Given the description of an element on the screen output the (x, y) to click on. 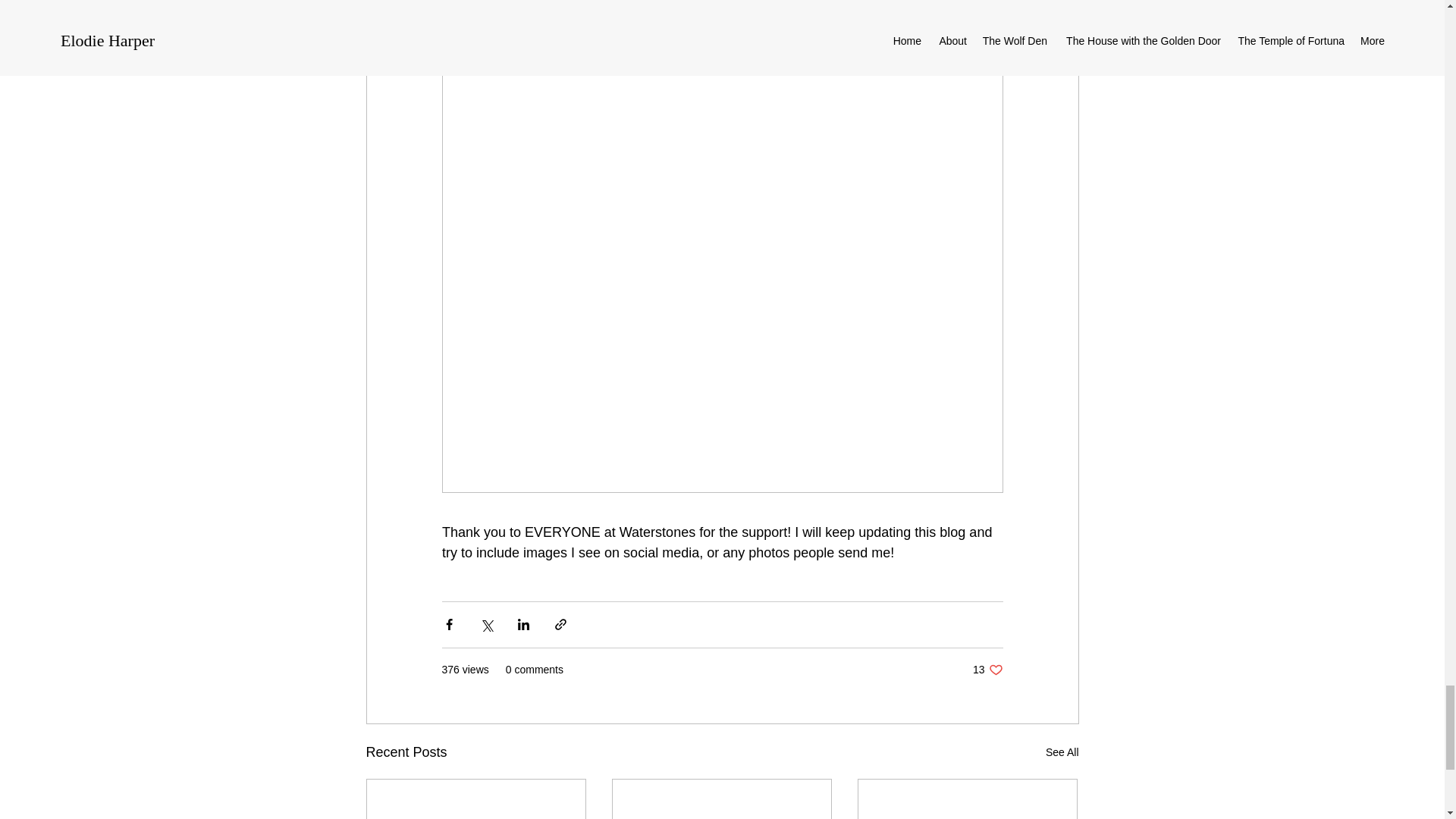
See All (1061, 752)
